Given the description of an element on the screen output the (x, y) to click on. 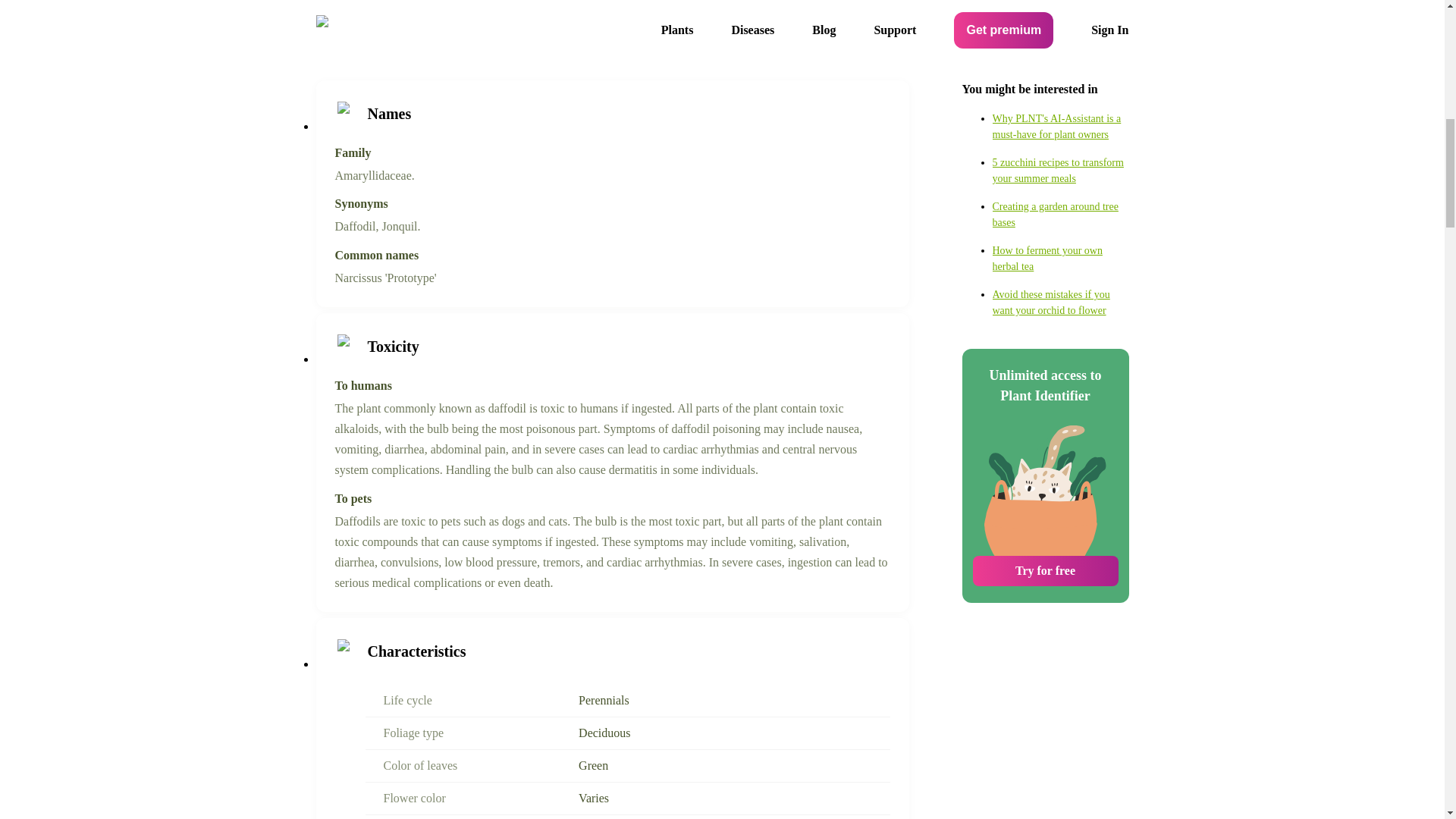
How to ferment your own herbal tea (1059, 133)
5 zucchini recipes to transform your summer meals (1059, 45)
Why PLNT's AI-Assistant is a must-have for plant owners (1059, 8)
Avoid these mistakes if you want your orchid to flower (1059, 177)
Try for free (1045, 445)
Creating a garden around tree bases (1059, 89)
